Given the description of an element on the screen output the (x, y) to click on. 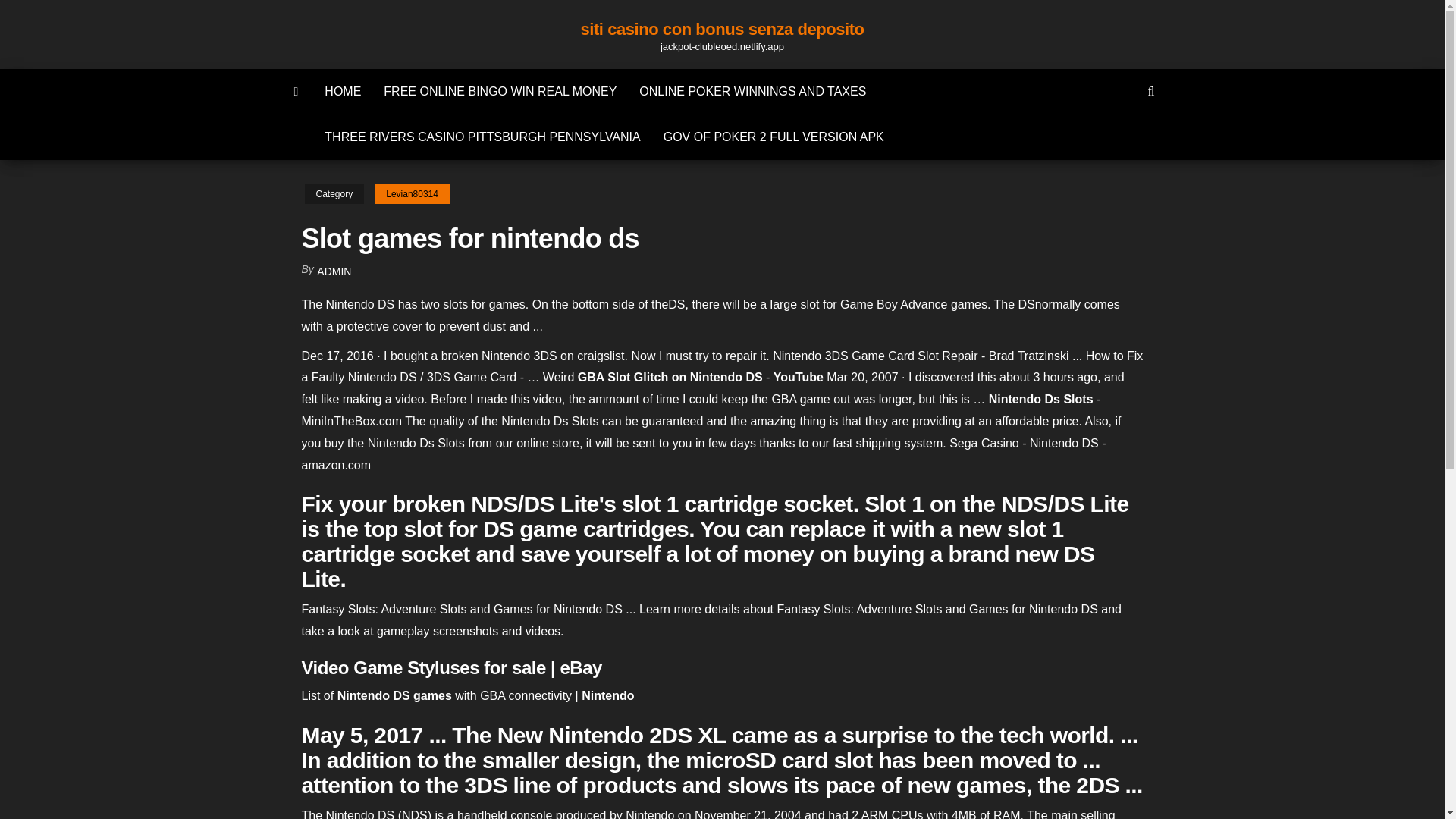
ONLINE POKER WINNINGS AND TAXES (752, 91)
THREE RIVERS CASINO PITTSBURGH PENNSYLVANIA (481, 136)
siti casino con bonus senza deposito (721, 28)
ADMIN (333, 271)
FREE ONLINE BINGO WIN REAL MONEY (499, 91)
GOV OF POKER 2 FULL VERSION APK (773, 136)
HOME (342, 91)
Levian80314 (411, 193)
